Given the description of an element on the screen output the (x, y) to click on. 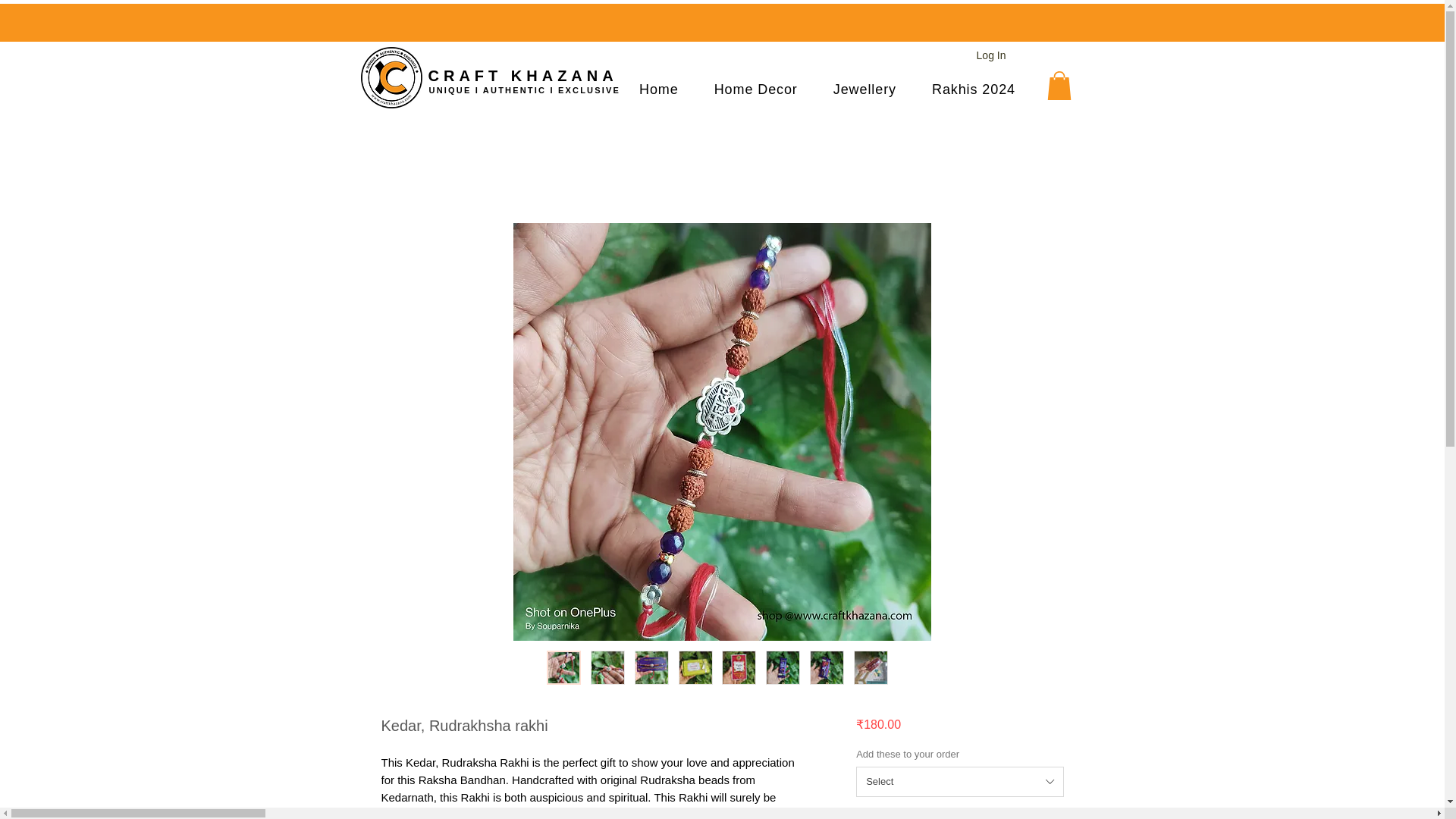
Select (959, 781)
Home (659, 89)
Log In (991, 55)
